Given the description of an element on the screen output the (x, y) to click on. 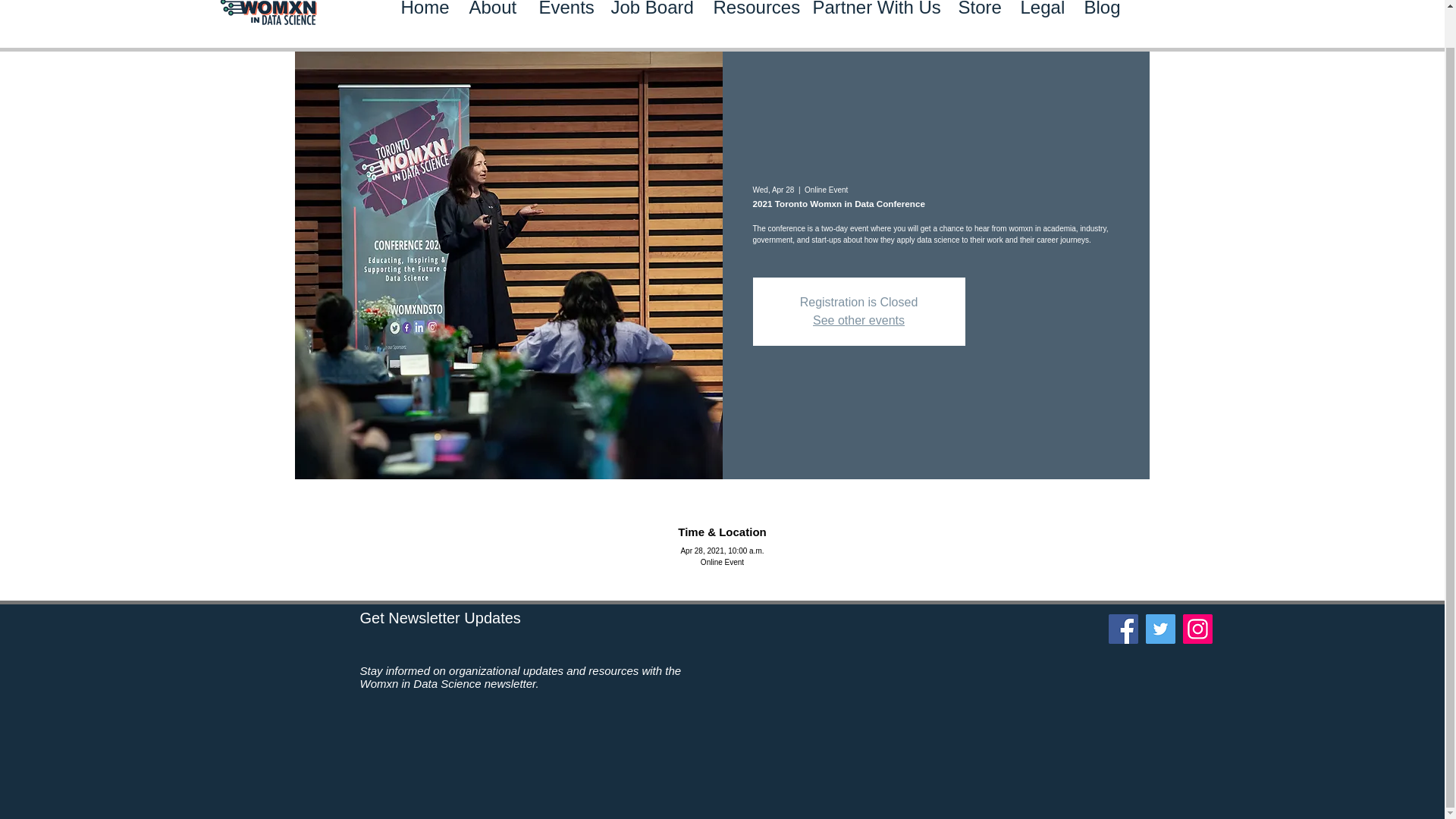
Job Board (649, 24)
Home (424, 24)
See other events (858, 319)
Blog (1100, 24)
Store (977, 24)
About (492, 24)
